Given the description of an element on the screen output the (x, y) to click on. 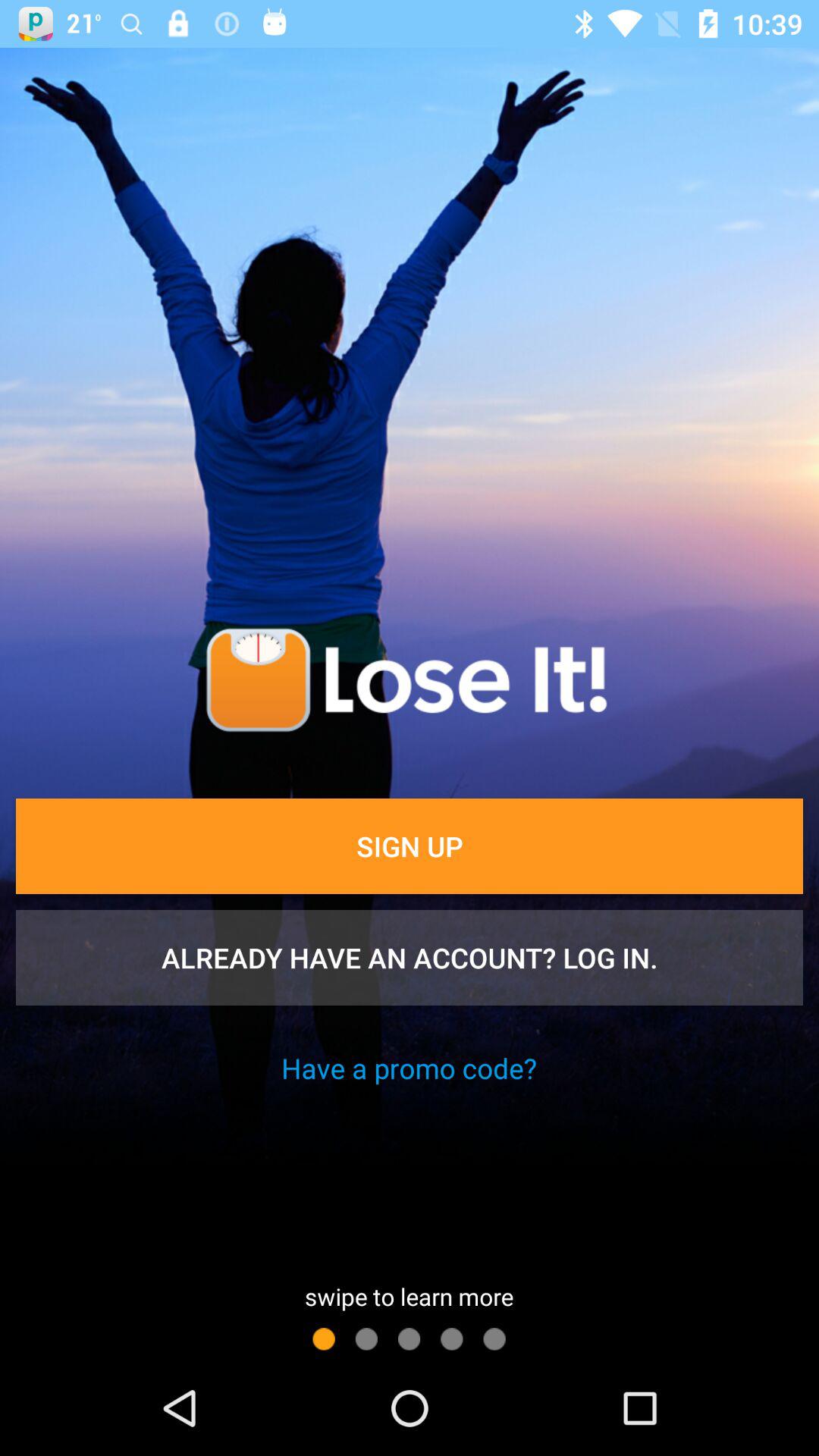
jump until the have a promo icon (408, 1067)
